Given the description of an element on the screen output the (x, y) to click on. 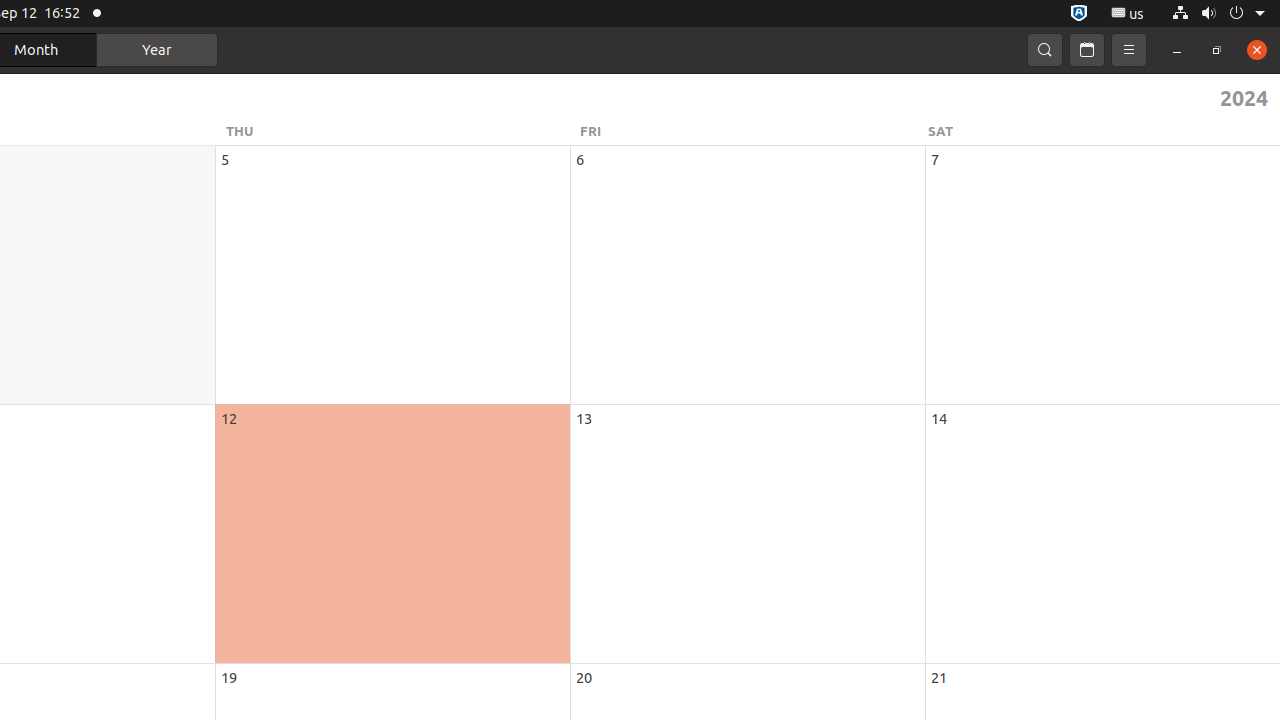
21 Element type: label (939, 677)
20 Element type: label (584, 677)
19 Element type: label (229, 677)
